Given the description of an element on the screen output the (x, y) to click on. 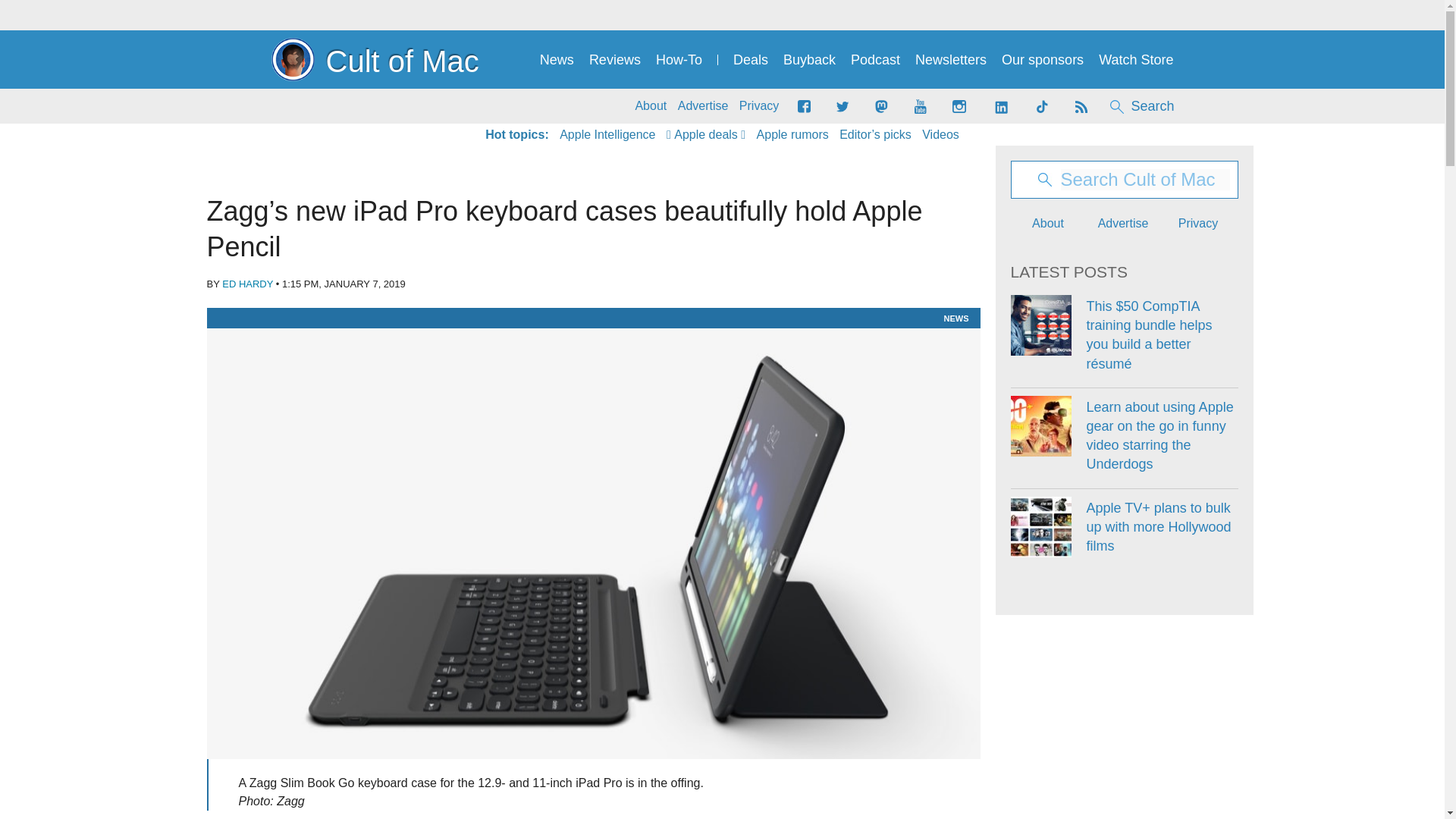
Podcast (875, 59)
Our sponsors (1042, 59)
How-To (678, 59)
Cult of Mac (374, 59)
Posts by Ed Hardy (247, 283)
Watch Store (1135, 59)
Privacy (758, 105)
Apple deals  (705, 134)
Deals (750, 59)
Apple Intelligence (607, 134)
Apple Intelligence (607, 134)
Newsletters (950, 59)
Advertise (703, 105)
Apple legal battles (792, 134)
Videos (940, 134)
